Given the description of an element on the screen output the (x, y) to click on. 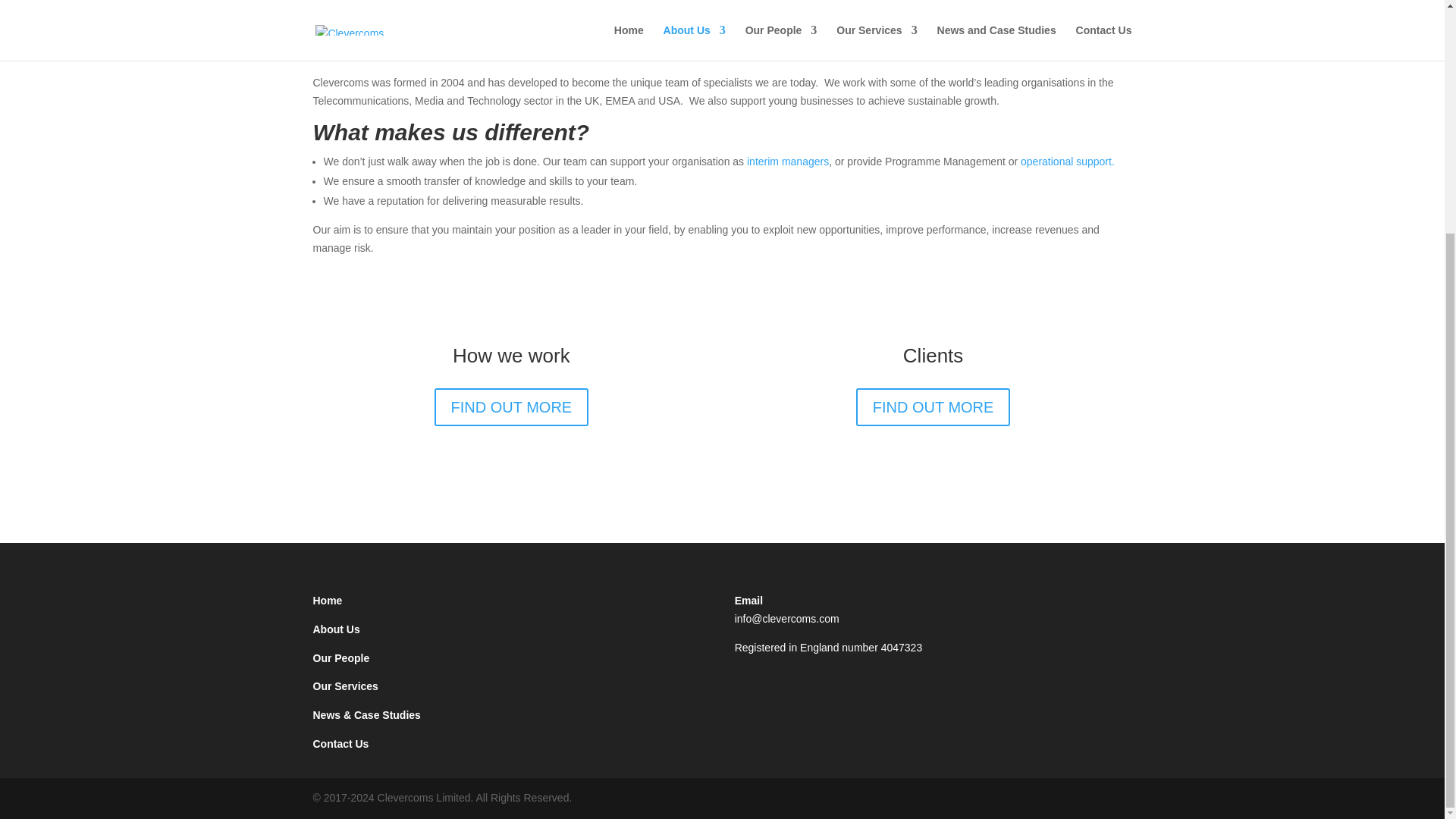
About Us (336, 629)
operational support. (1067, 161)
Our People (341, 657)
interim managers (787, 161)
Home (327, 600)
FIND OUT MORE (511, 406)
FIND OUT MORE (933, 406)
Our Services (345, 686)
Contact Us (340, 743)
